Given the description of an element on the screen output the (x, y) to click on. 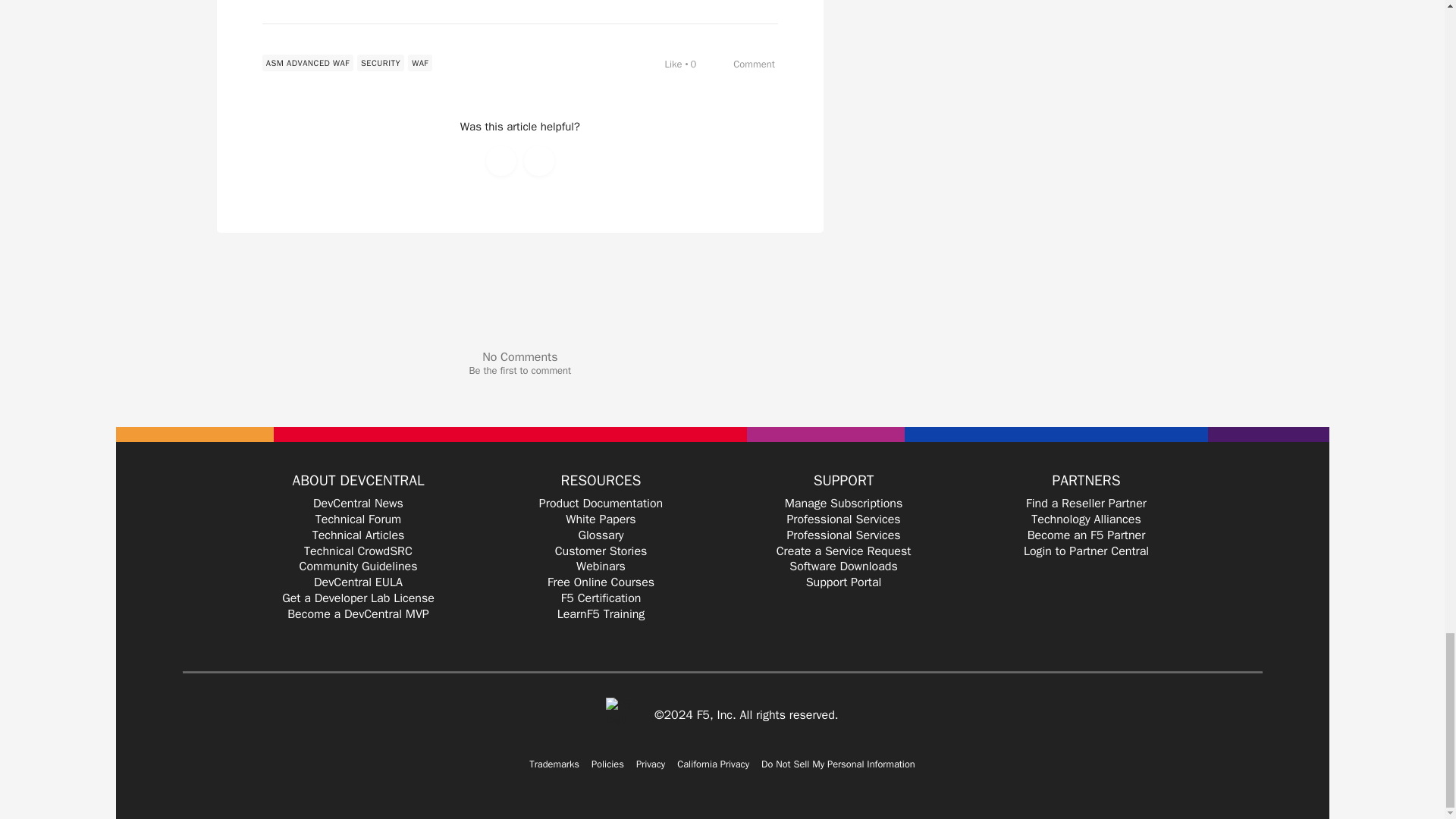
WAF (419, 62)
ASM ADVANCED WAF (307, 62)
SECURITY (380, 62)
